Given the description of an element on the screen output the (x, y) to click on. 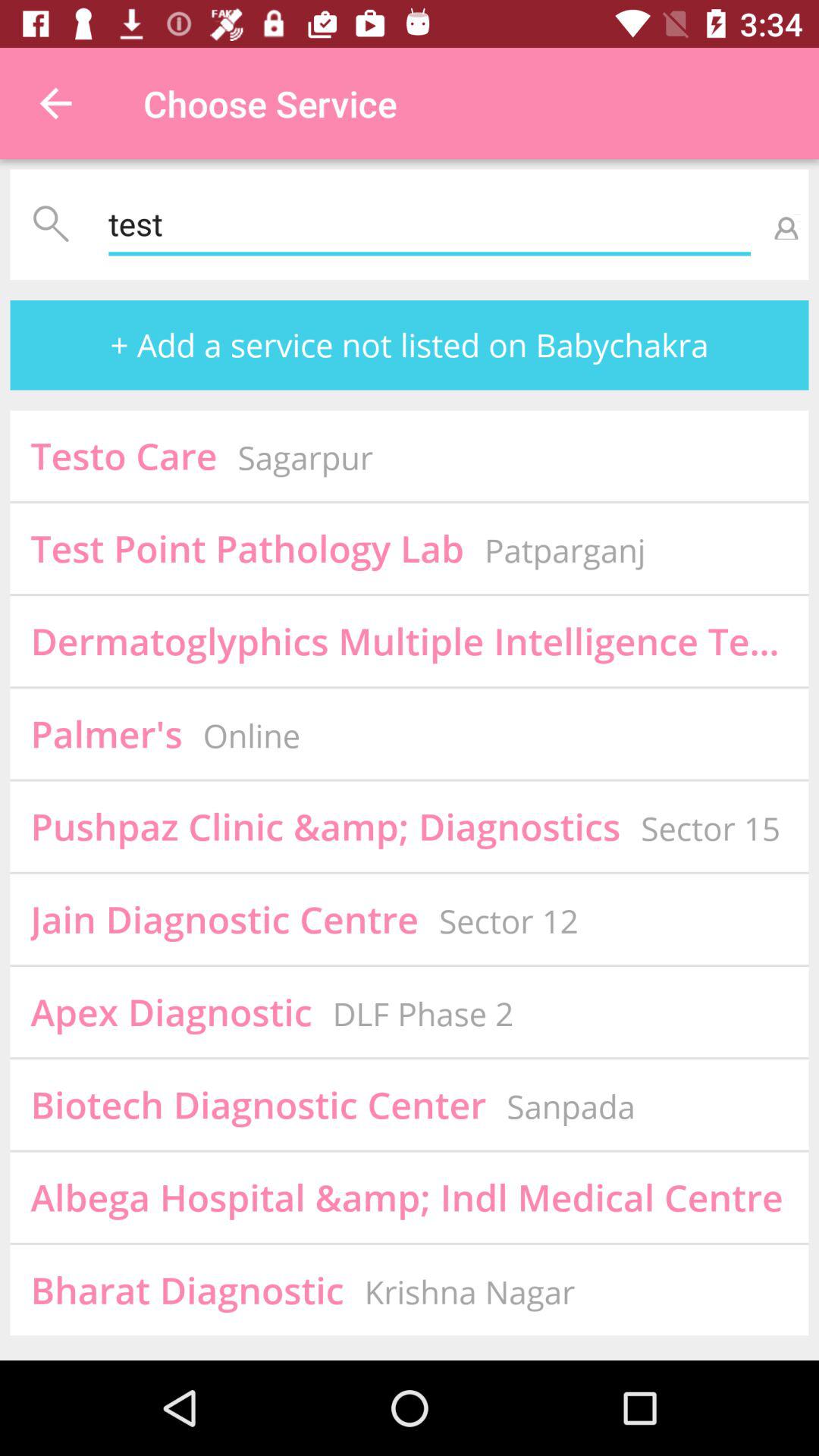
open the item above sanpada icon (710, 827)
